Given the description of an element on the screen output the (x, y) to click on. 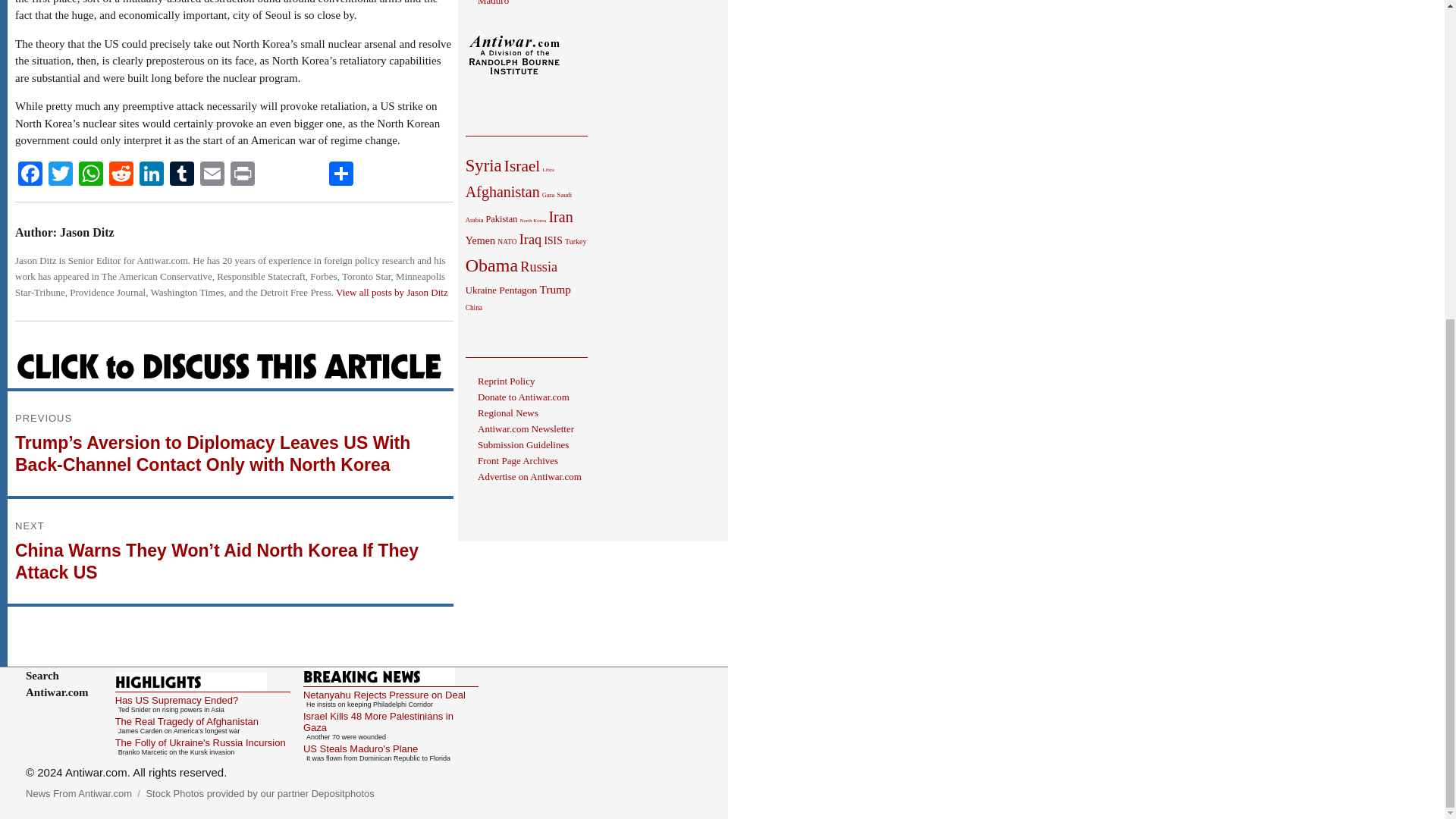
Facebook (29, 175)
LinkedIn (151, 175)
Share (341, 175)
Tumblr (181, 175)
Tumblr (181, 175)
WhatsApp (90, 175)
View all posts by Jason Ditz (392, 292)
Twitter (60, 175)
LinkedIn (151, 175)
Reddit (121, 175)
